Given the description of an element on the screen output the (x, y) to click on. 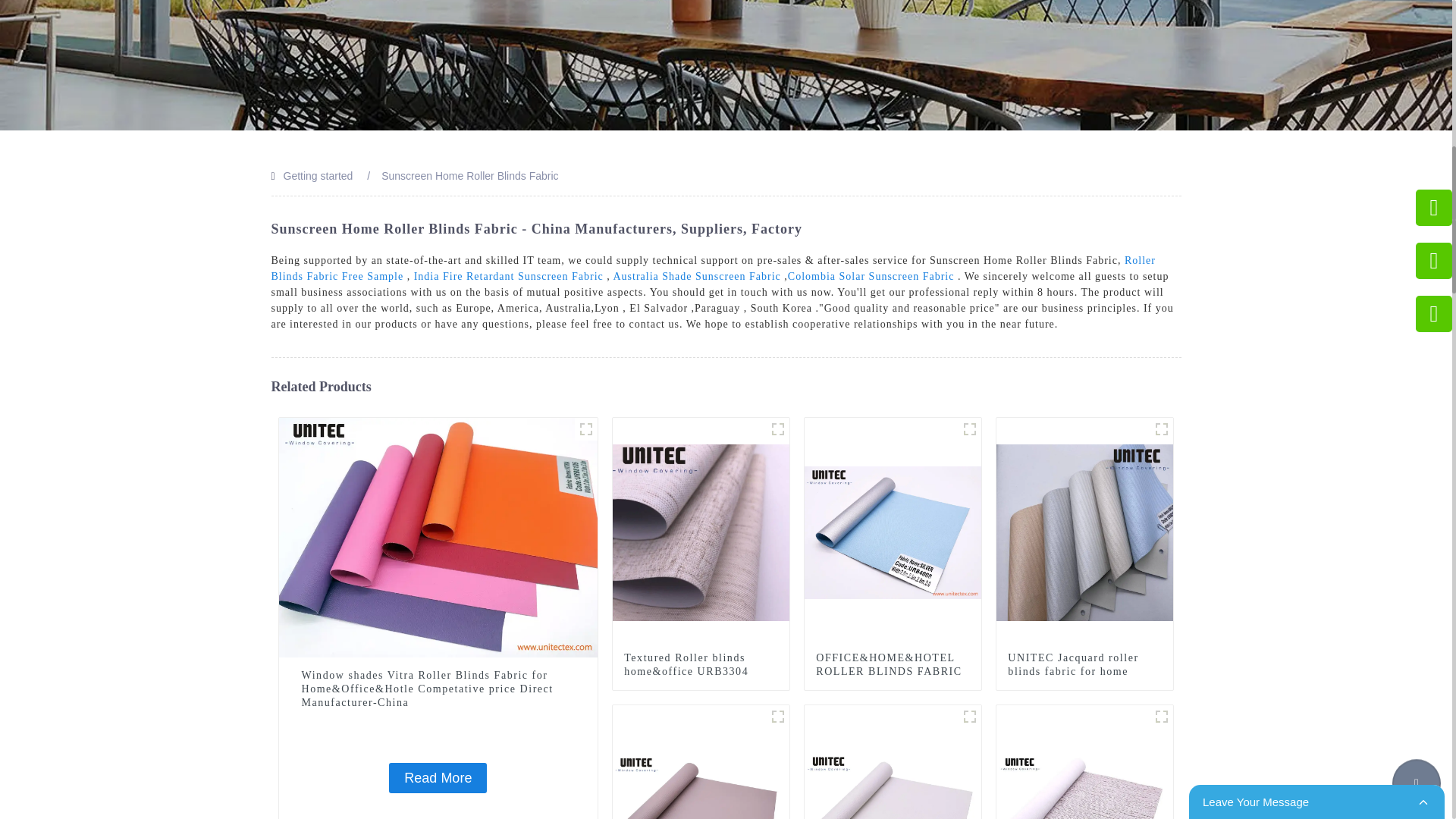
Blackout Roller Blinds Fabric For Home From Direct Factory (778, 716)
LINEN AND POLYESTER BLACKOUT FABRIC URB33 SERIES (778, 428)
UNITEC Jacquard roller blinds fabric for home (1084, 664)
Colombia Solar Sunscreen Fabric (871, 276)
Australia Shade Sunscreen Fabric (696, 276)
UNITECjrb (1161, 428)
Blackout Roller Blinds Fabric For Home From Direct Factory (700, 816)
Roller Blinds Fabric Free Sample (713, 267)
05041112 (585, 428)
India Fire Retardant Sunscreen Fabric (508, 276)
4008 (969, 428)
UNITEC Jacquard roller blinds fabric for home (1084, 531)
Getting started (318, 175)
